Given the description of an element on the screen output the (x, y) to click on. 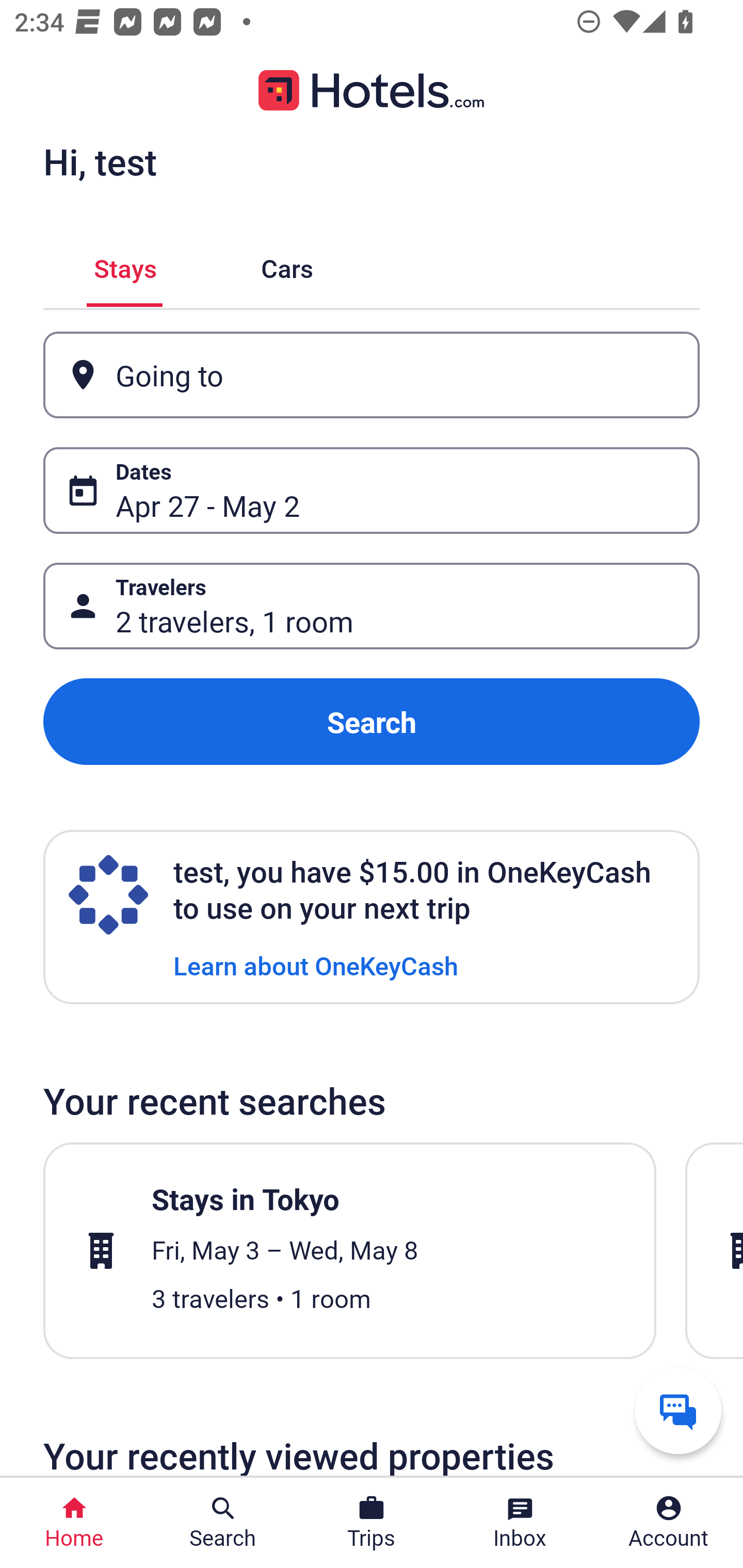
Hi, test (99, 161)
Cars (286, 265)
Going to Button (371, 375)
Dates Button Apr 27 - May 2 (371, 489)
Travelers Button 2 travelers, 1 room (371, 605)
Search (371, 721)
Learn about OneKeyCash Learn about OneKeyCash Link (315, 964)
Get help from a virtual agent (677, 1410)
Search Search Button (222, 1522)
Trips Trips Button (371, 1522)
Inbox Inbox Button (519, 1522)
Account Profile. Button (668, 1522)
